Given the description of an element on the screen output the (x, y) to click on. 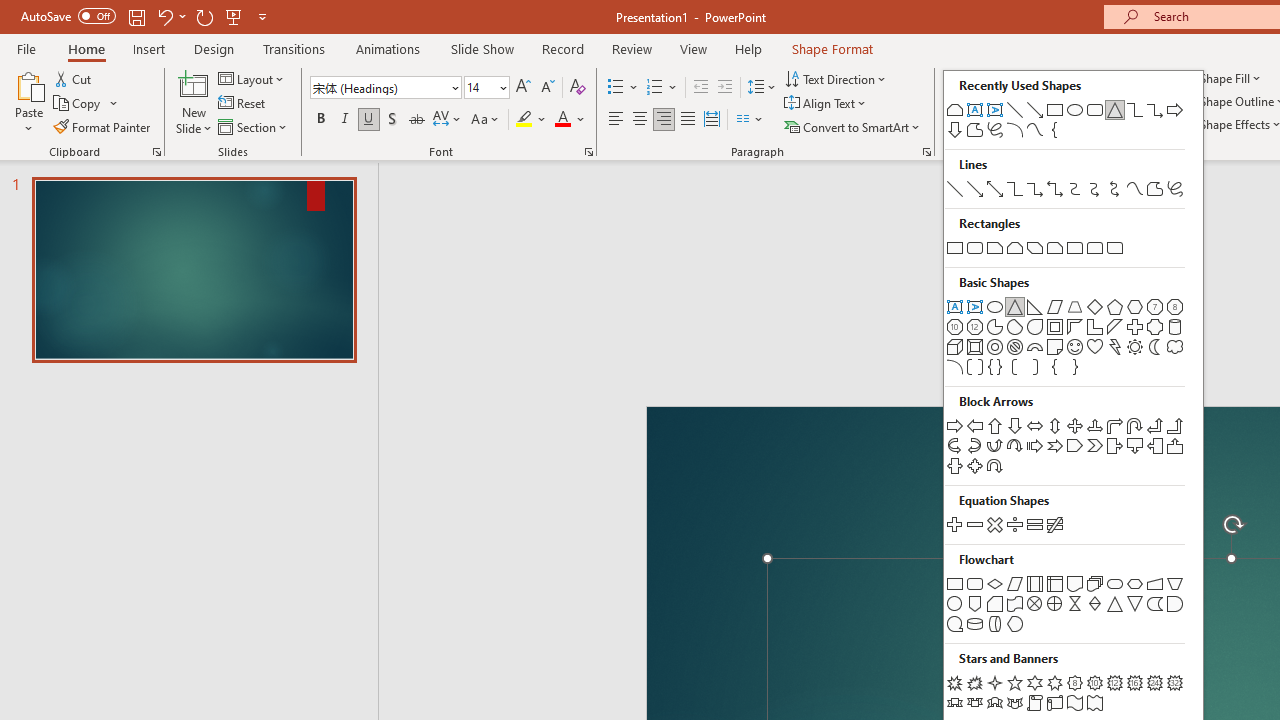
Line Spacing (762, 87)
Change Case (486, 119)
Clear Formatting (577, 87)
Columns (750, 119)
Increase Indent (725, 87)
